Given the description of an element on the screen output the (x, y) to click on. 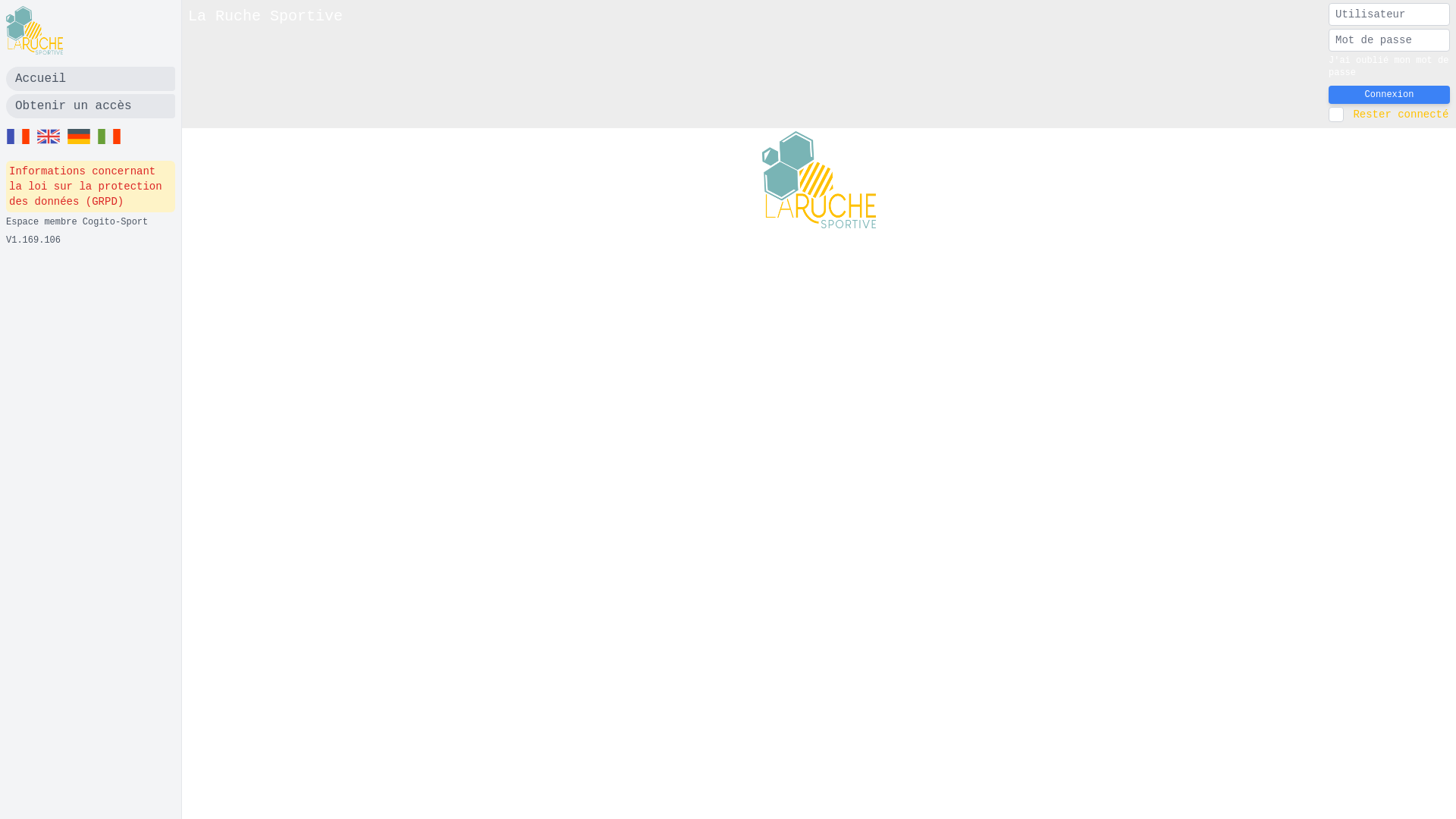
Espace membre Cogito-Sport Element type: text (76, 221)
Accueil Element type: text (90, 78)
La Ruche Sportive Element type: text (265, 64)
Connexion Element type: text (1388, 94)
